Given the description of an element on the screen output the (x, y) to click on. 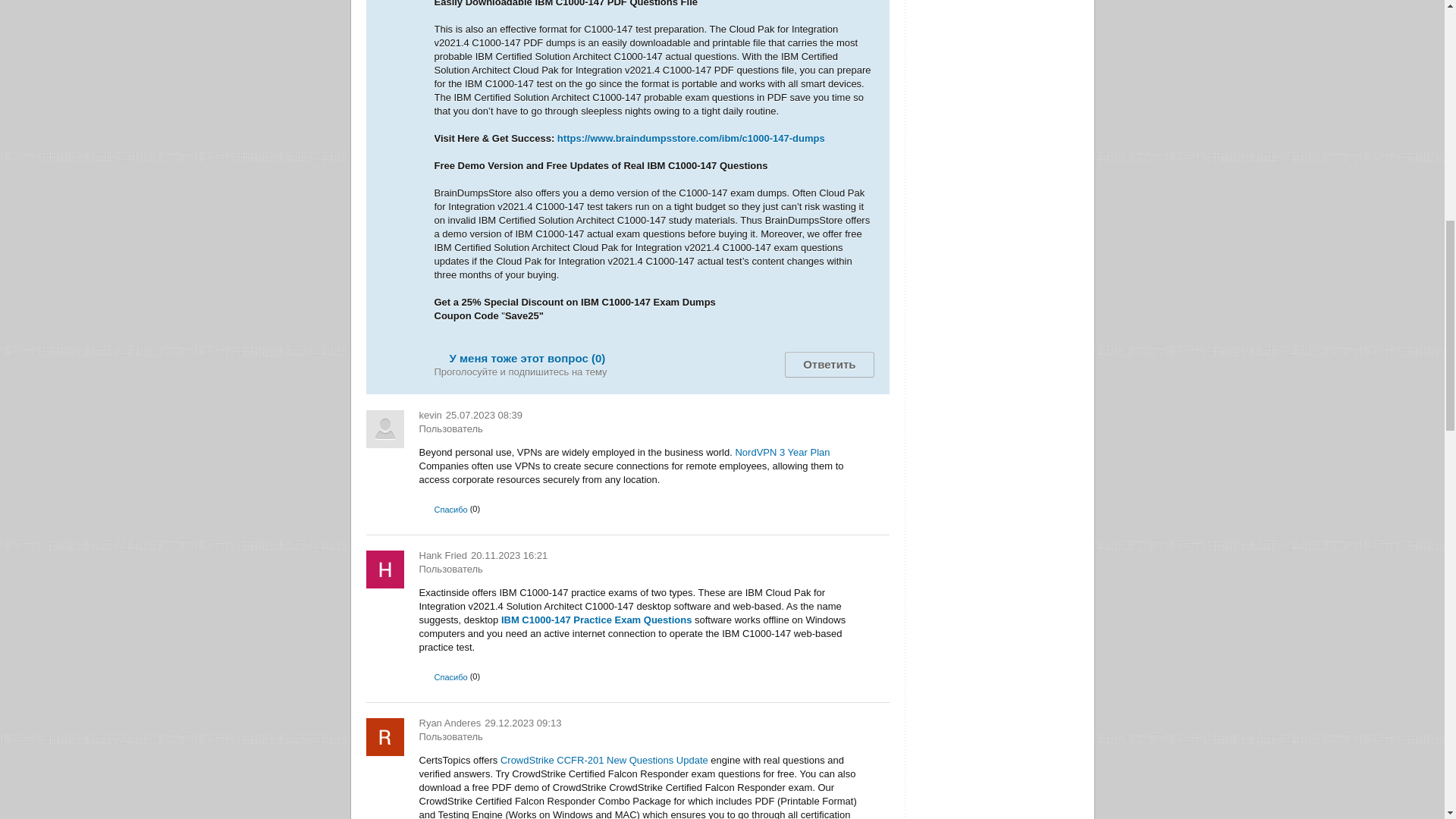
25.07.2023 08:39 (483, 415)
IBM C1000-147 Practice Exam Questions (595, 619)
NordVPN 3 Year Plan (782, 451)
20.11.2023 16:21 (508, 555)
CrowdStrike CCFR-201 New Questions Update (603, 759)
29.12.2023 09:13 (522, 723)
kevin (430, 415)
Ryan Anderes (449, 723)
Hank Fried (443, 555)
